Given the description of an element on the screen output the (x, y) to click on. 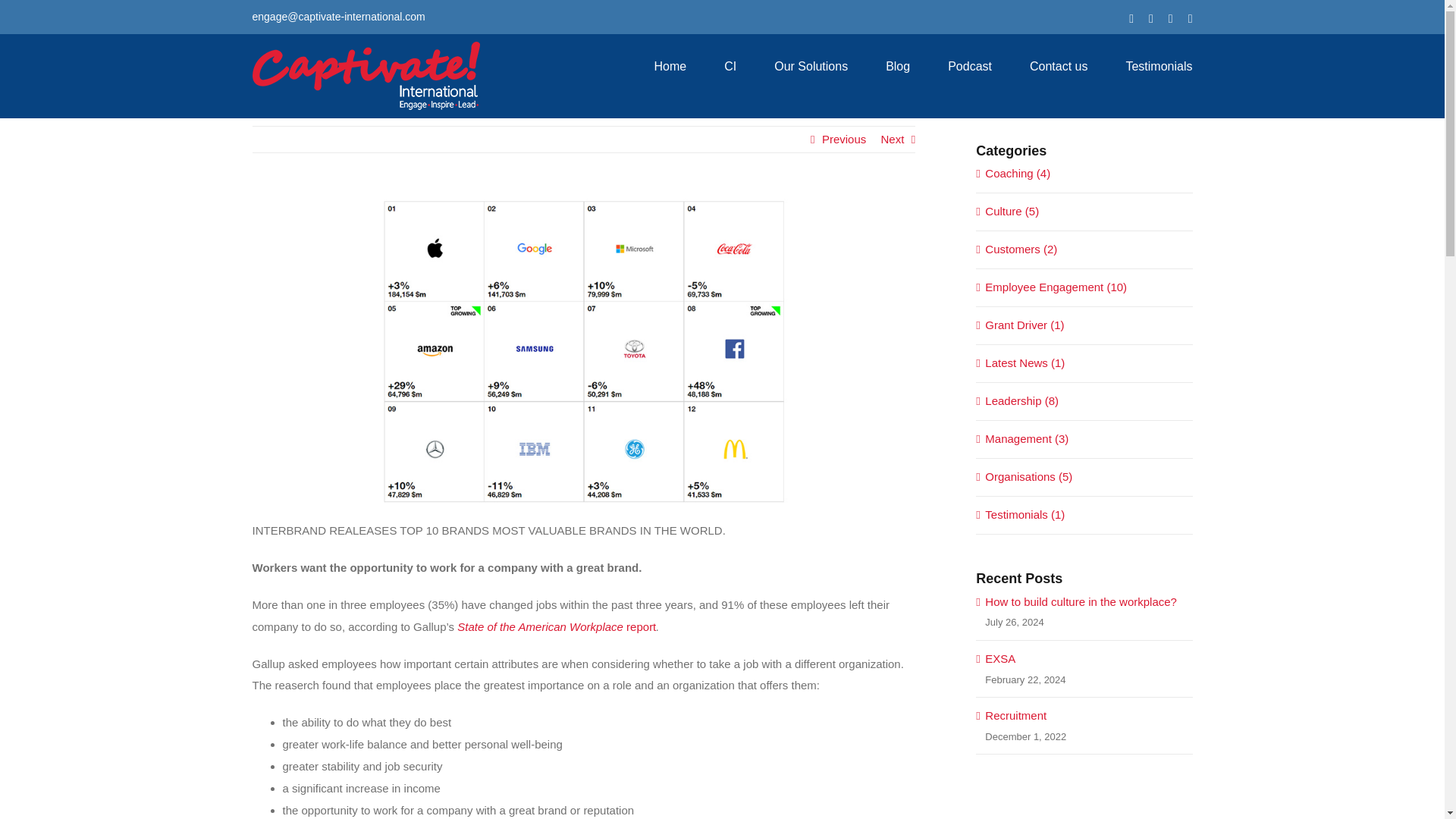
Testimonials (1158, 66)
State of the American Workplace report (556, 626)
Previous (844, 139)
Contact us (1058, 66)
Next (892, 139)
Our Solutions (810, 66)
